Given the description of an element on the screen output the (x, y) to click on. 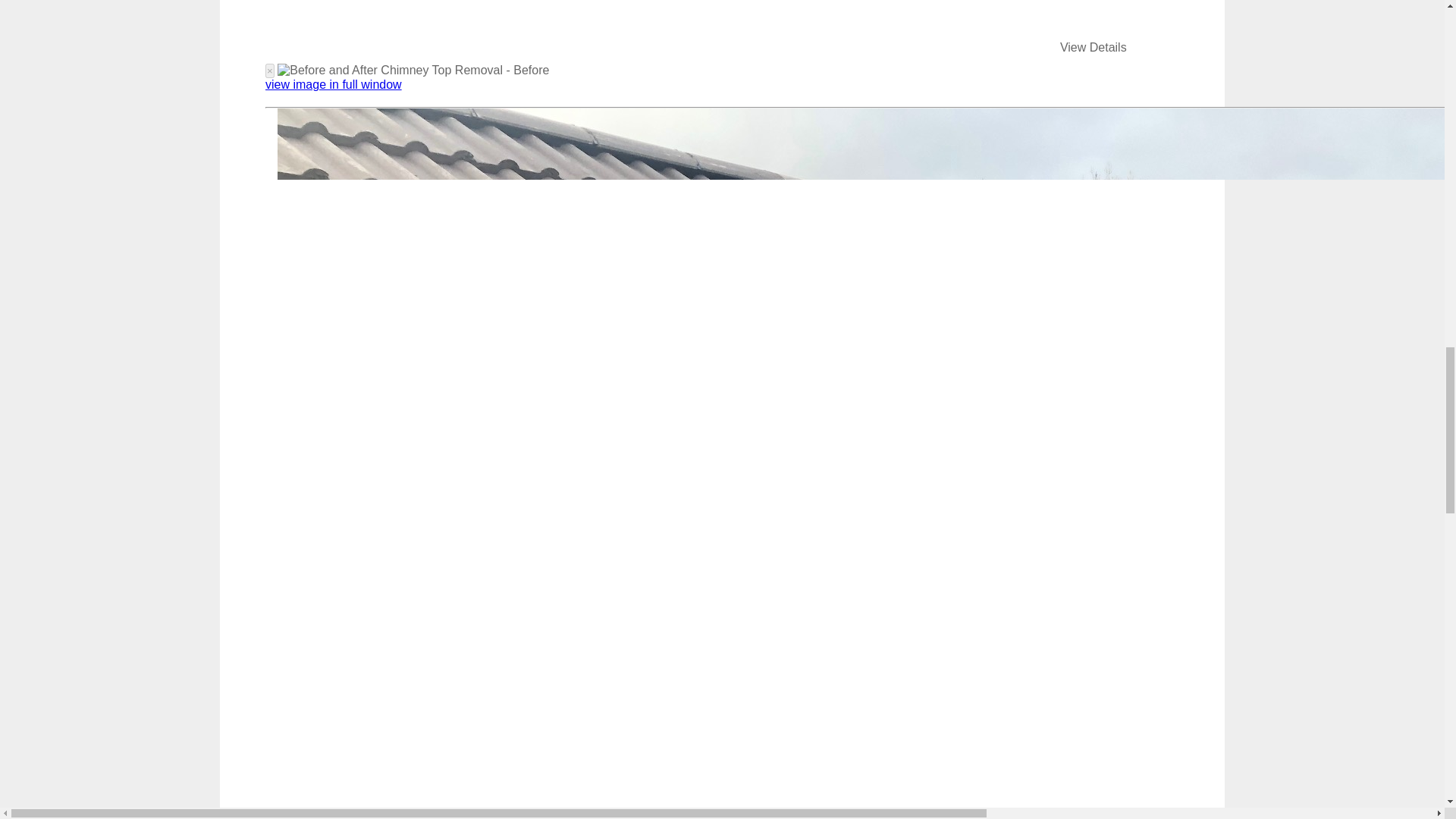
View Details (1092, 47)
view image in full window (332, 83)
Before and After Chimney Top Removal - Details (1092, 47)
